Given the description of an element on the screen output the (x, y) to click on. 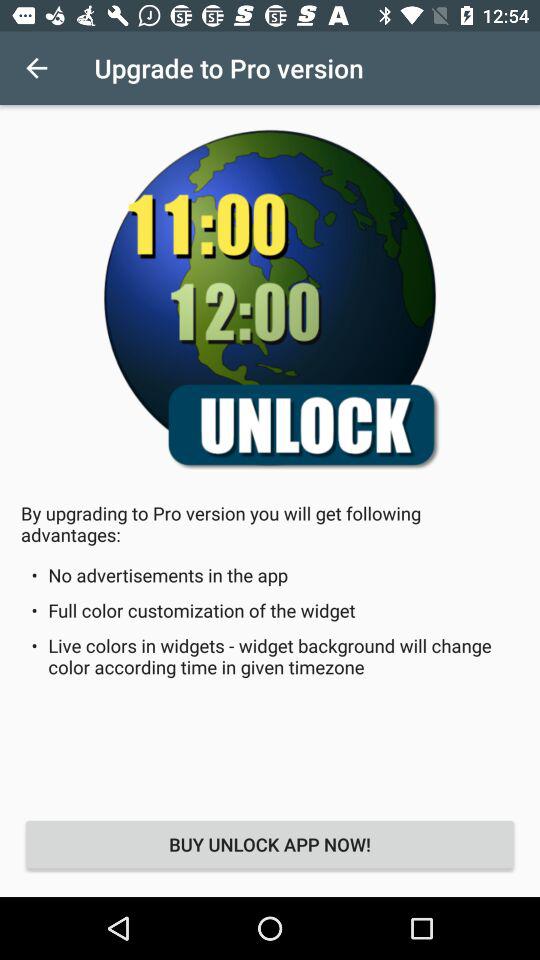
open the icon at the top left corner (36, 68)
